Given the description of an element on the screen output the (x, y) to click on. 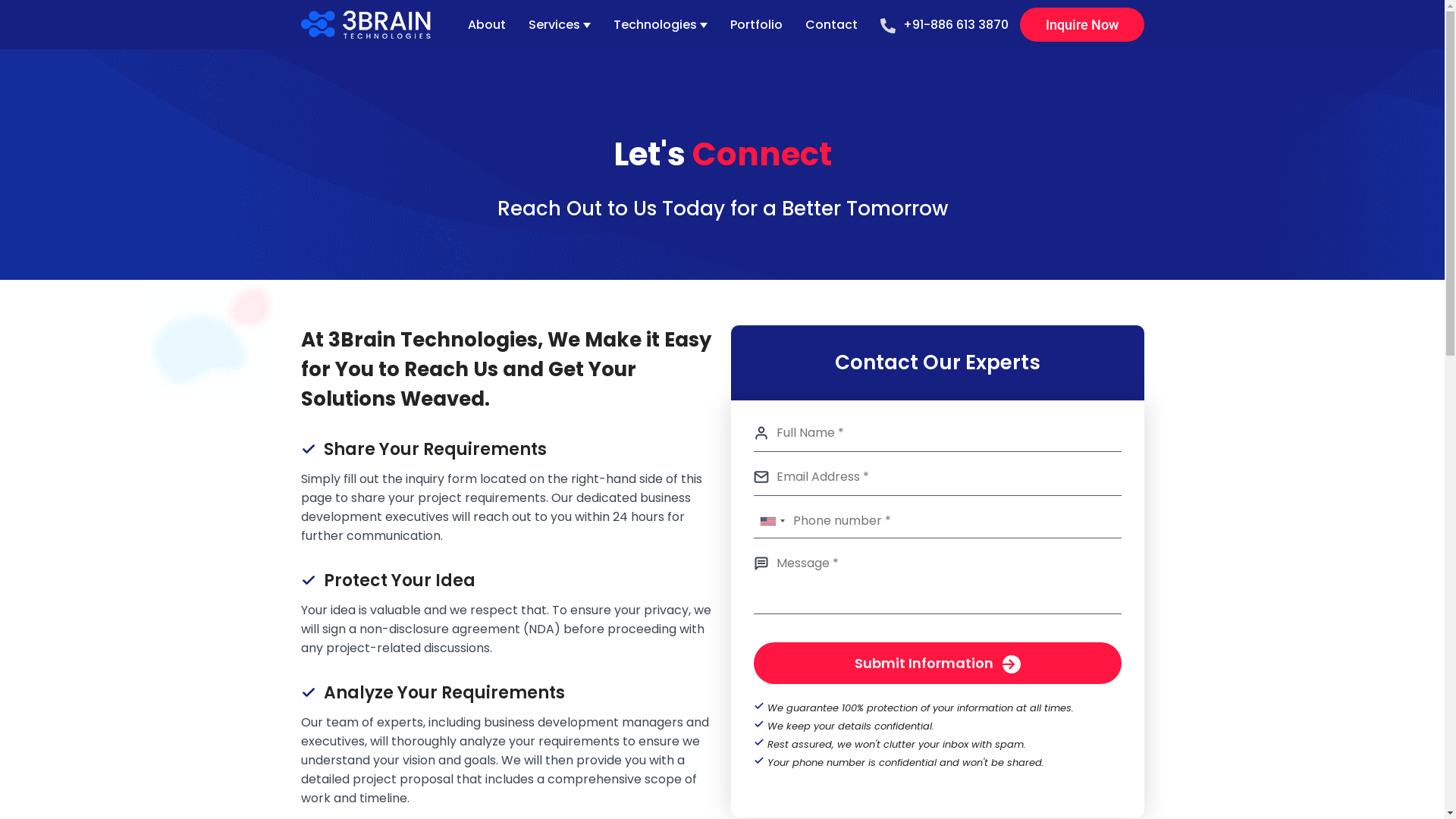
Services Element type: text (553, 24)
+91-886 613 3870 Element type: text (943, 24)
Portfolio Element type: text (755, 24)
Submit Information Element type: text (937, 663)
Technologies Element type: text (654, 24)
Inquire Now Element type: text (1081, 24)
Contact Element type: text (831, 24)
About Element type: text (486, 24)
United States: +1 Element type: hover (771, 524)
